Given the description of an element on the screen output the (x, y) to click on. 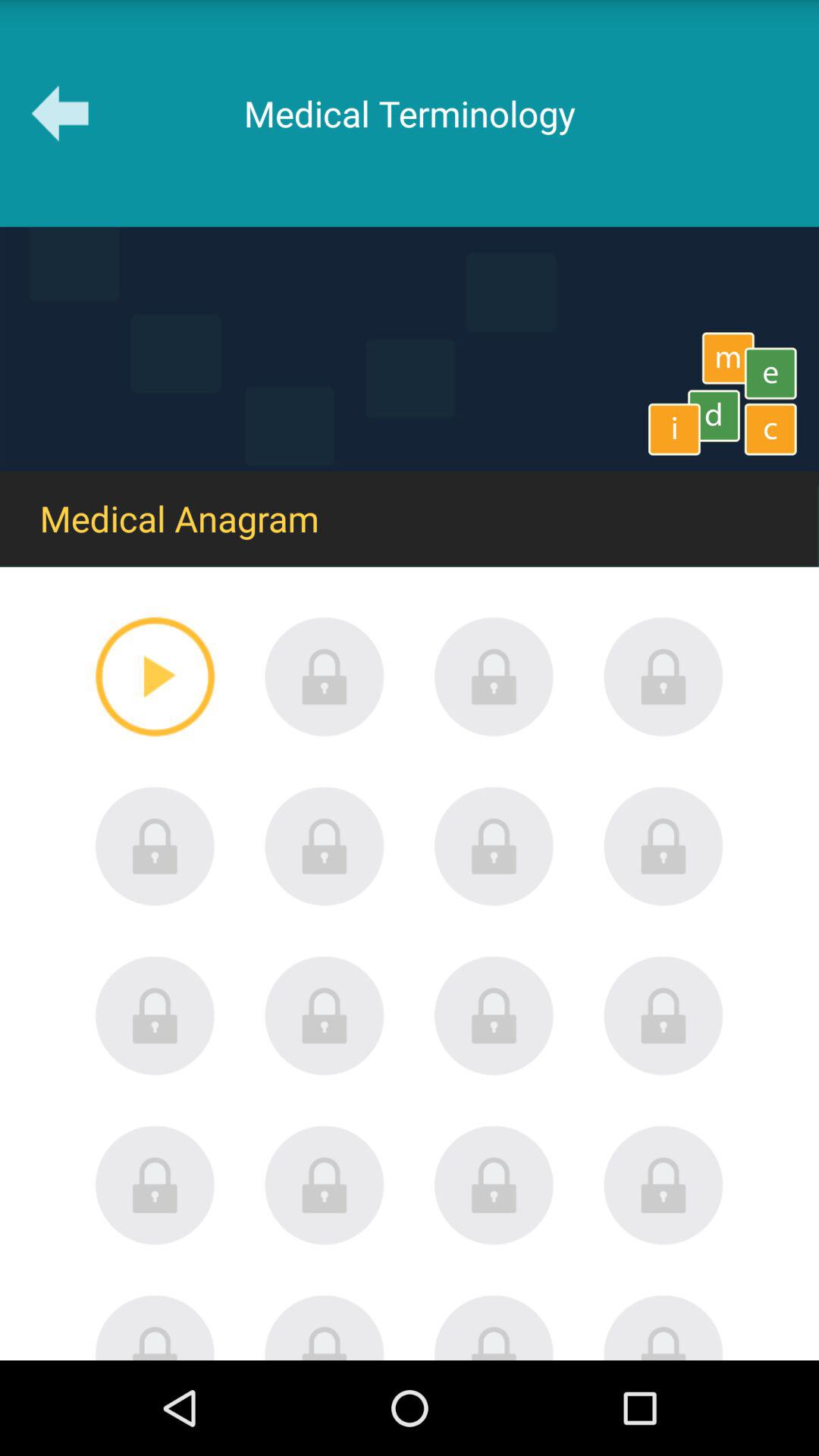
lock (663, 1015)
